Given the description of an element on the screen output the (x, y) to click on. 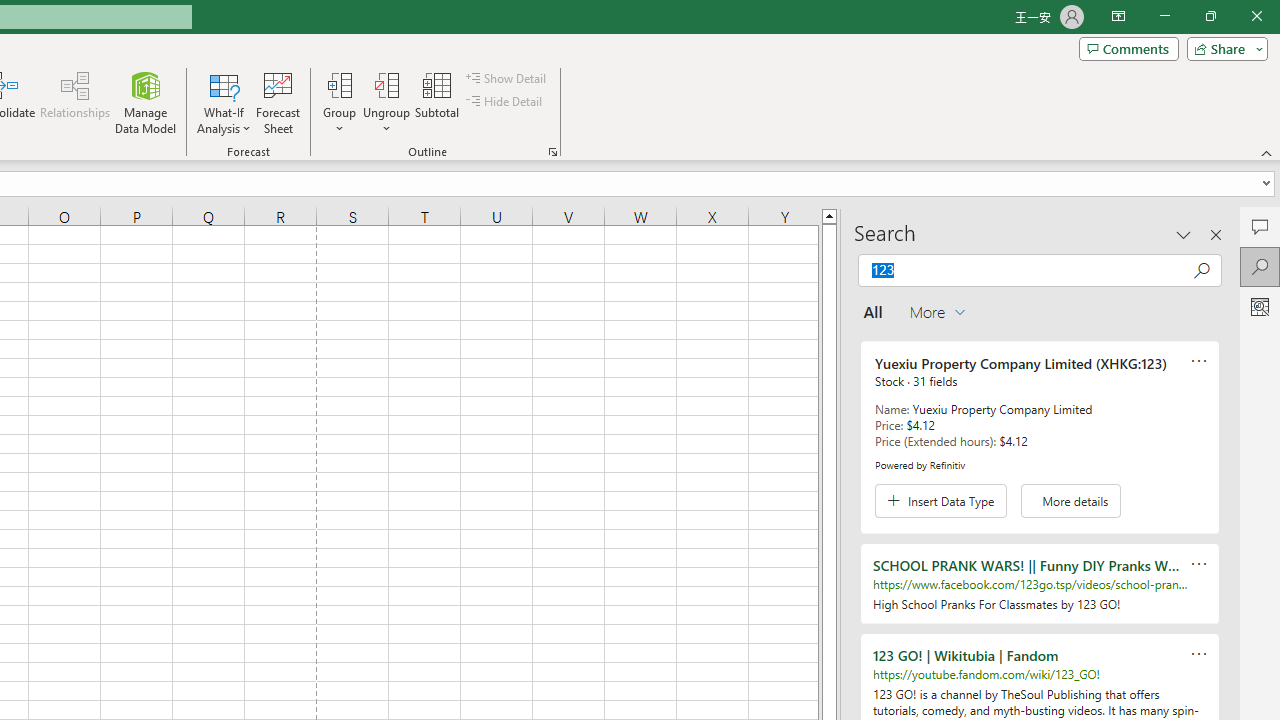
Hide Detail (505, 101)
What-If Analysis (223, 102)
Forecast Sheet (278, 102)
Subtotal (437, 102)
Group and Outline Settings (552, 151)
